Given the description of an element on the screen output the (x, y) to click on. 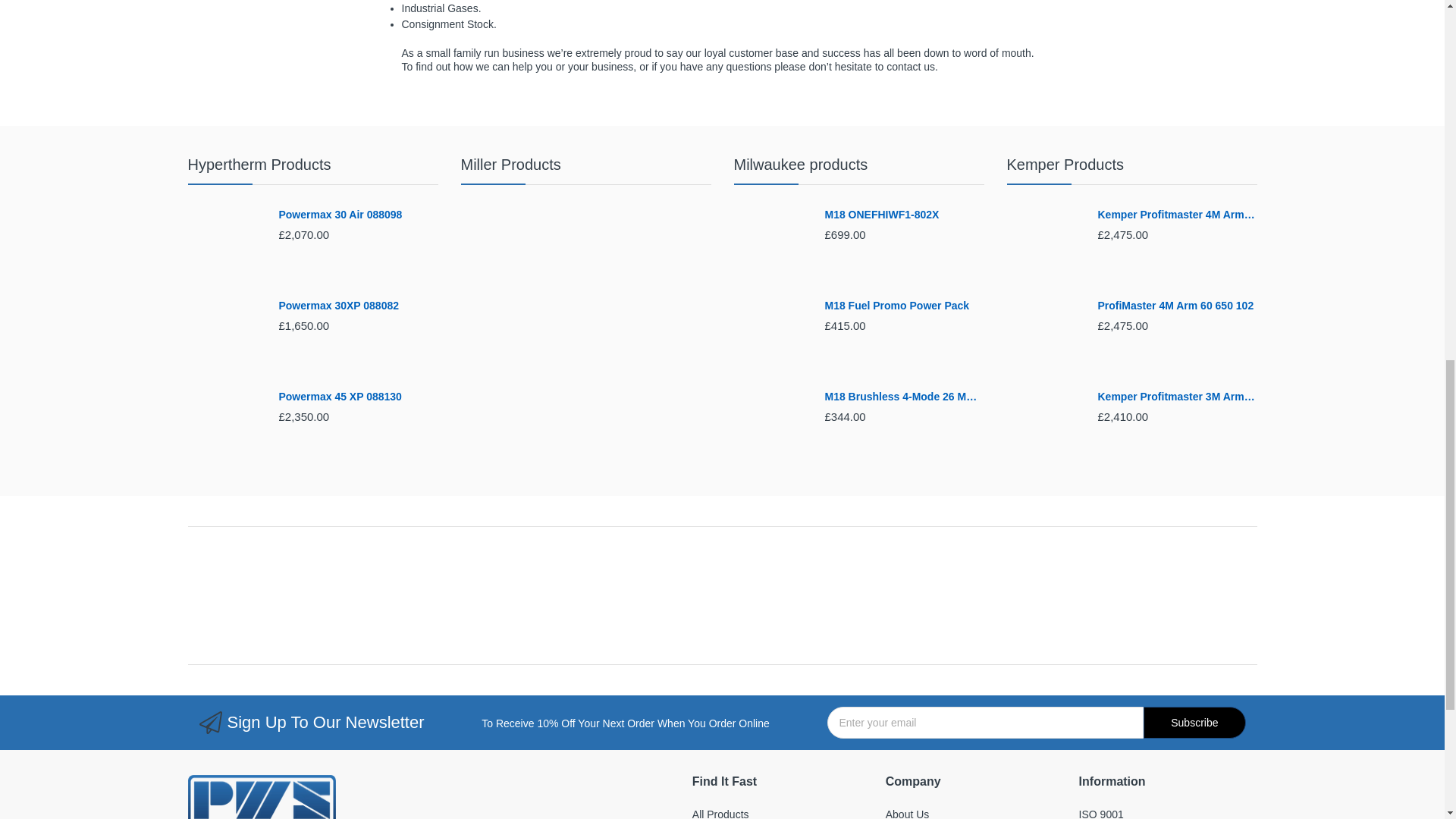
Powermax 45 XP 088130 (358, 396)
M18 ONEFHIWF1-802X (771, 245)
M18 ONEFHIWF1-802X (904, 215)
Powermax 30 Air 088098 (225, 245)
M18 Fuel Promo Power Pack (904, 305)
Kemper Profitmaster 4M Arm 60 650102 (1176, 215)
Miller Products (510, 164)
Hypertherm Products (259, 164)
Powermax 30XP 088082 (225, 336)
Kemper Profitmaster 4M Arm 60 650102 (1045, 245)
Powermax 30 Air 088098 (358, 215)
ProfiMaster 4M Arm 60 650 102 (1176, 305)
M18 Fuel Promo Power Pack (771, 336)
ProfiMaster 4M Arm 60 650 102 (1045, 336)
Kemper Profitmaster 3M Arm 60 650101 (1045, 427)
